Given the description of an element on the screen output the (x, y) to click on. 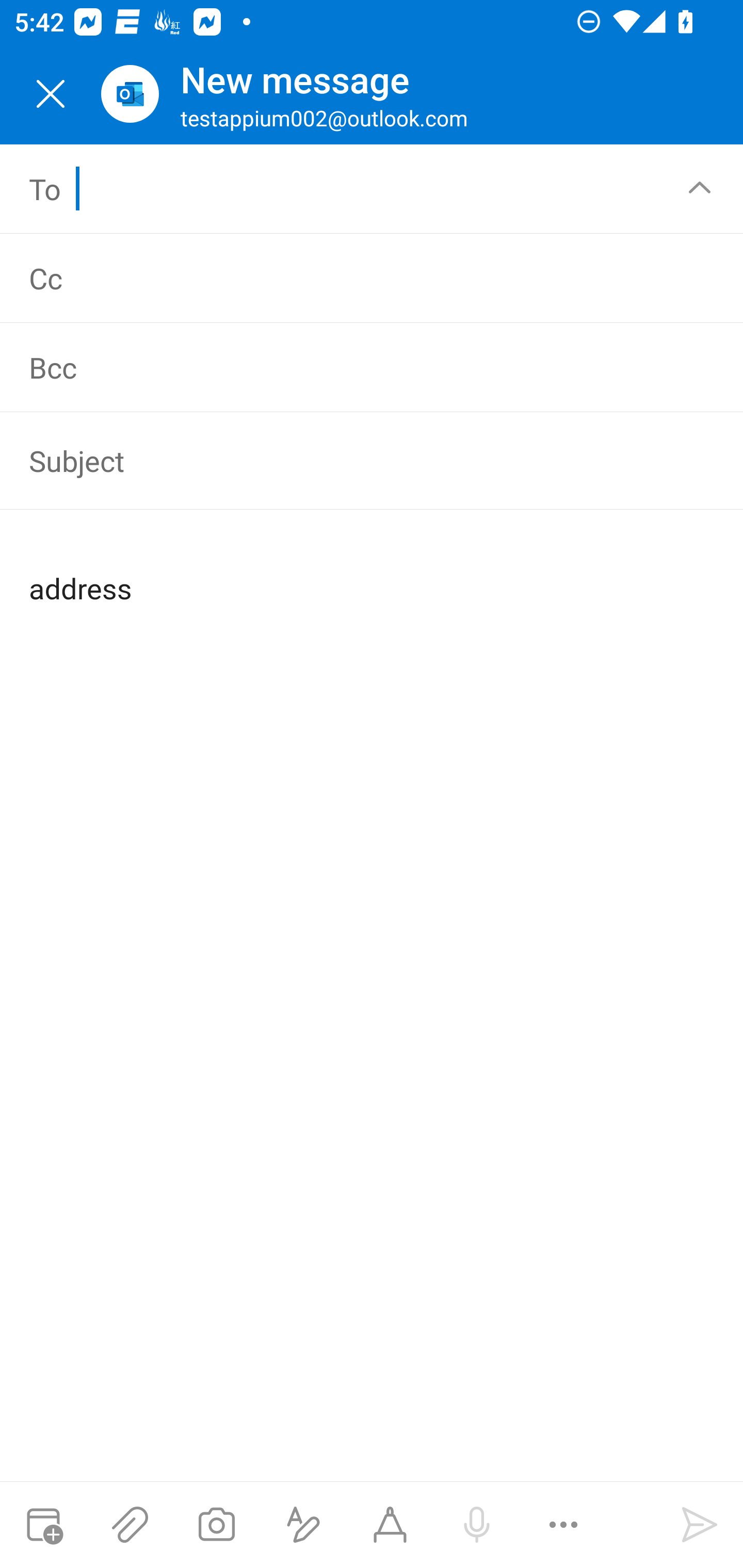
Close (50, 93)
Subject (342, 460)

address (372, 571)
Attach meeting (43, 1524)
Attach files (129, 1524)
Take a photo (216, 1524)
Show formatting options (303, 1524)
Start Ink compose (389, 1524)
More options (563, 1524)
Send (699, 1524)
